Given the description of an element on the screen output the (x, y) to click on. 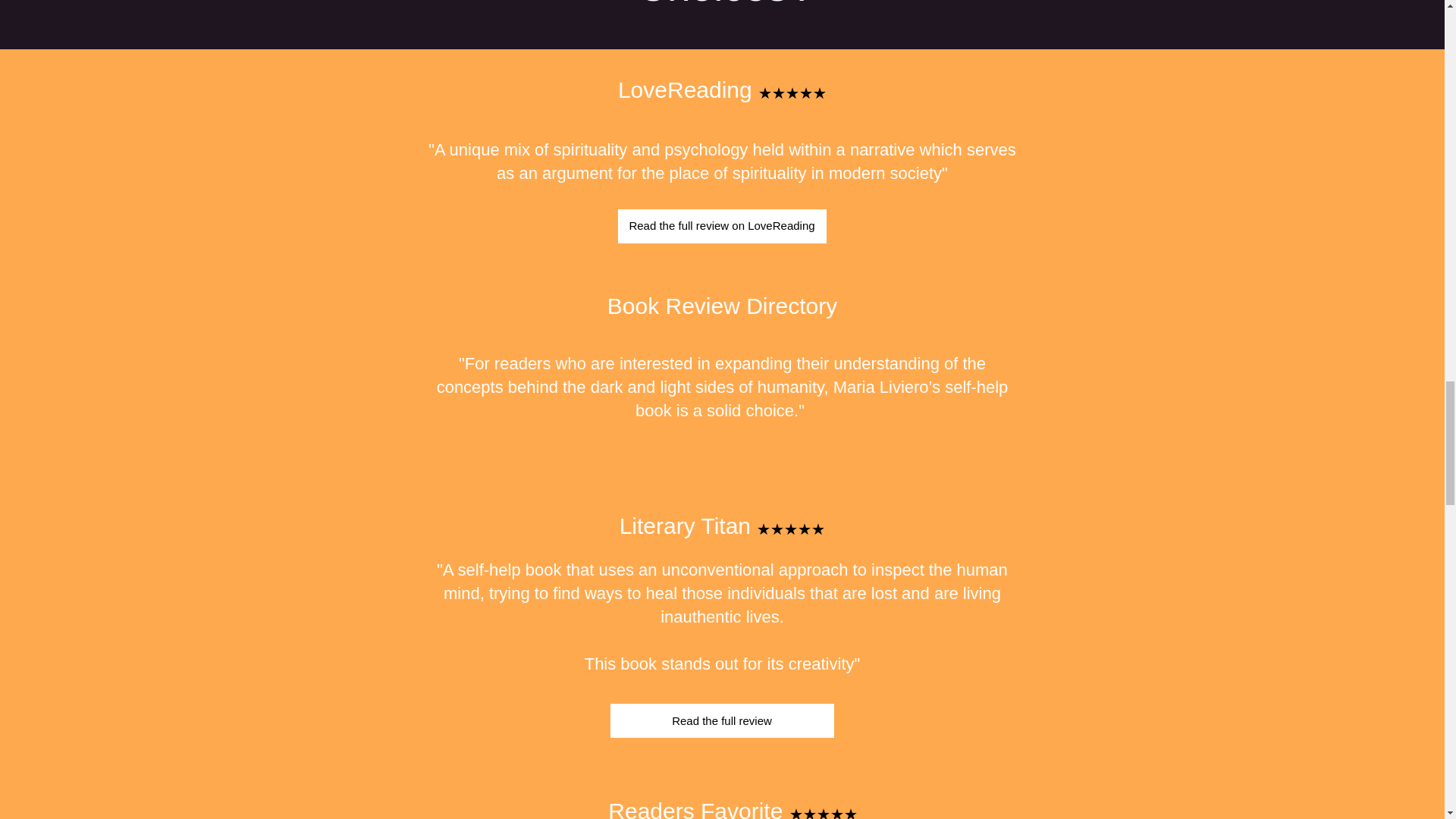
Read the full review on LoveReading (721, 226)
Read the full review on Foreword Reviews (721, 468)
Read the full review (721, 720)
See The Book Review Directory (722, 498)
